Given the description of an element on the screen output the (x, y) to click on. 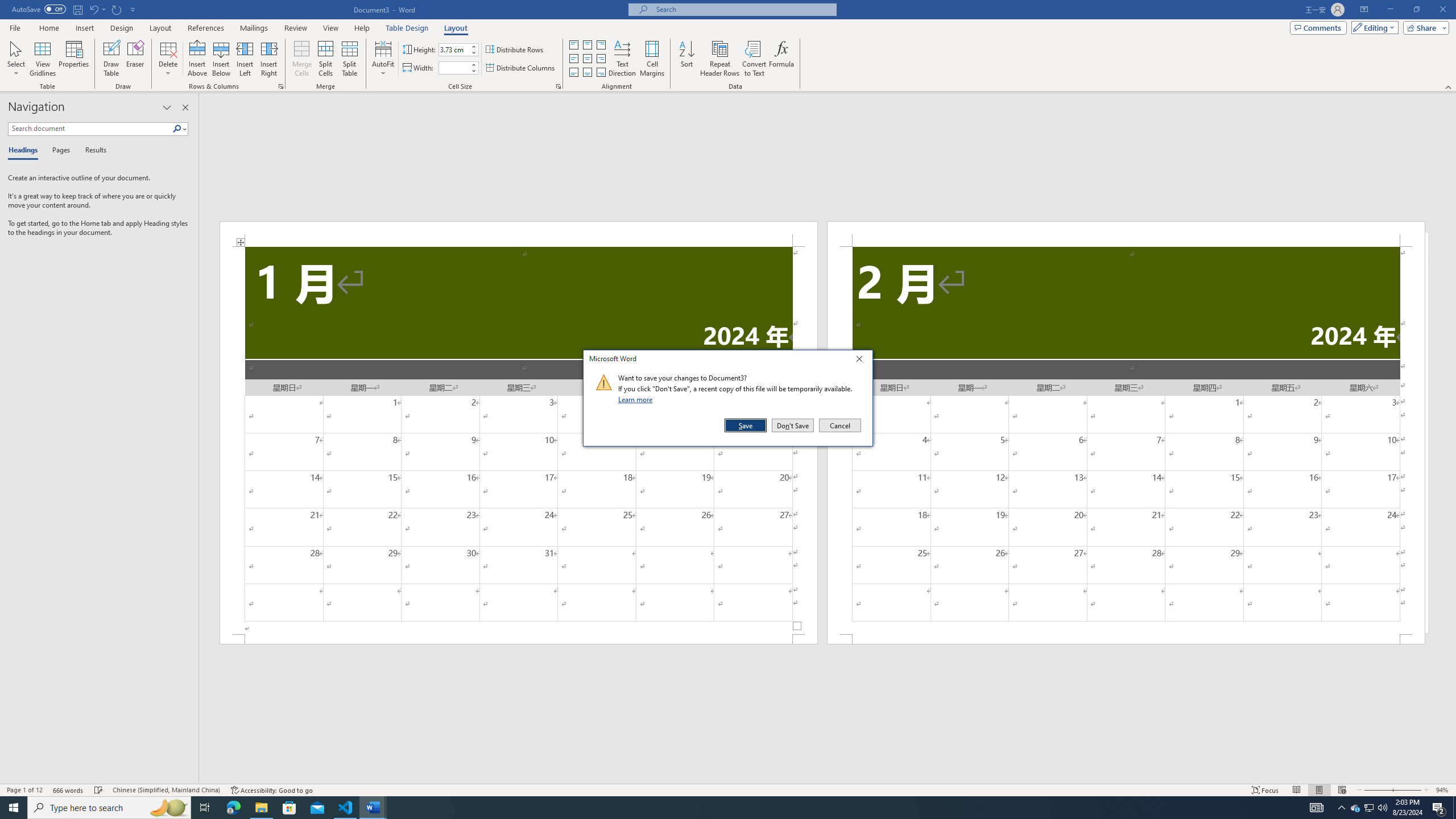
Microsoft Edge (233, 807)
Results (91, 150)
Distribute Columns (521, 67)
Insert Right (269, 58)
Read Mode (1296, 790)
Header -Section 2- (1126, 233)
Spelling and Grammar Check Checking (98, 790)
Split Cells... (325, 58)
Show desktop (1454, 807)
Footer -Section 1- (518, 638)
Close (862, 360)
Share (1423, 27)
Customize Quick Access Toolbar (133, 9)
Web Layout (1342, 790)
